Given the description of an element on the screen output the (x, y) to click on. 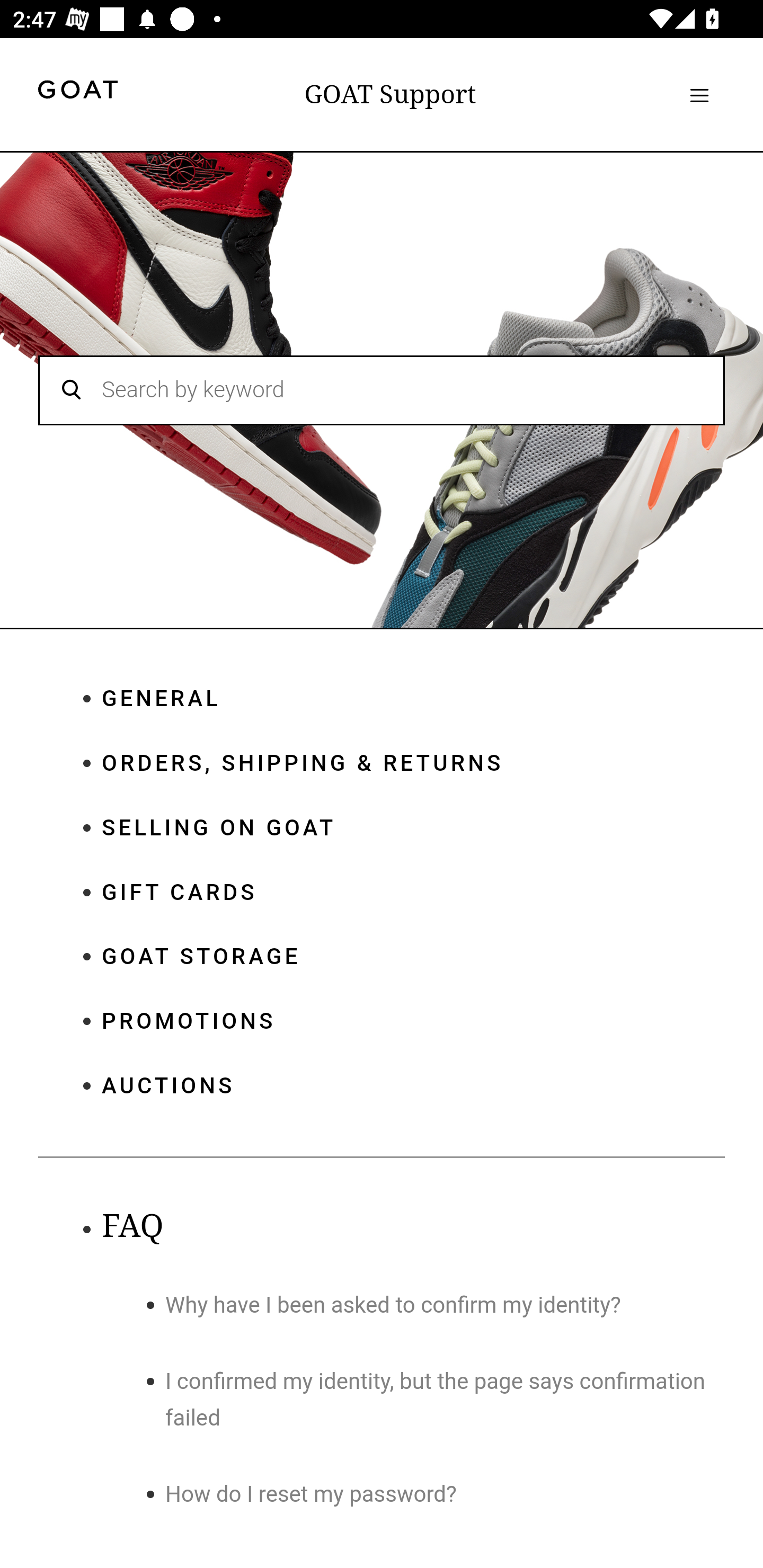
goat header logo (77, 92)
Toggle navigation menu (698, 94)
GOAT Support (389, 94)
GENERAL (412, 699)
ORDERS, SHIPPING & RETURNS (412, 763)
SELLING ON GOAT (412, 828)
GIFT CARDS (412, 891)
GOAT STORAGE (412, 956)
PROMOTIONS (412, 1022)
AUCTIONS (412, 1085)
FAQ (132, 1225)
Why have I been asked to confirm my identity? (393, 1305)
How do I reset my password? (311, 1494)
